Given the description of an element on the screen output the (x, y) to click on. 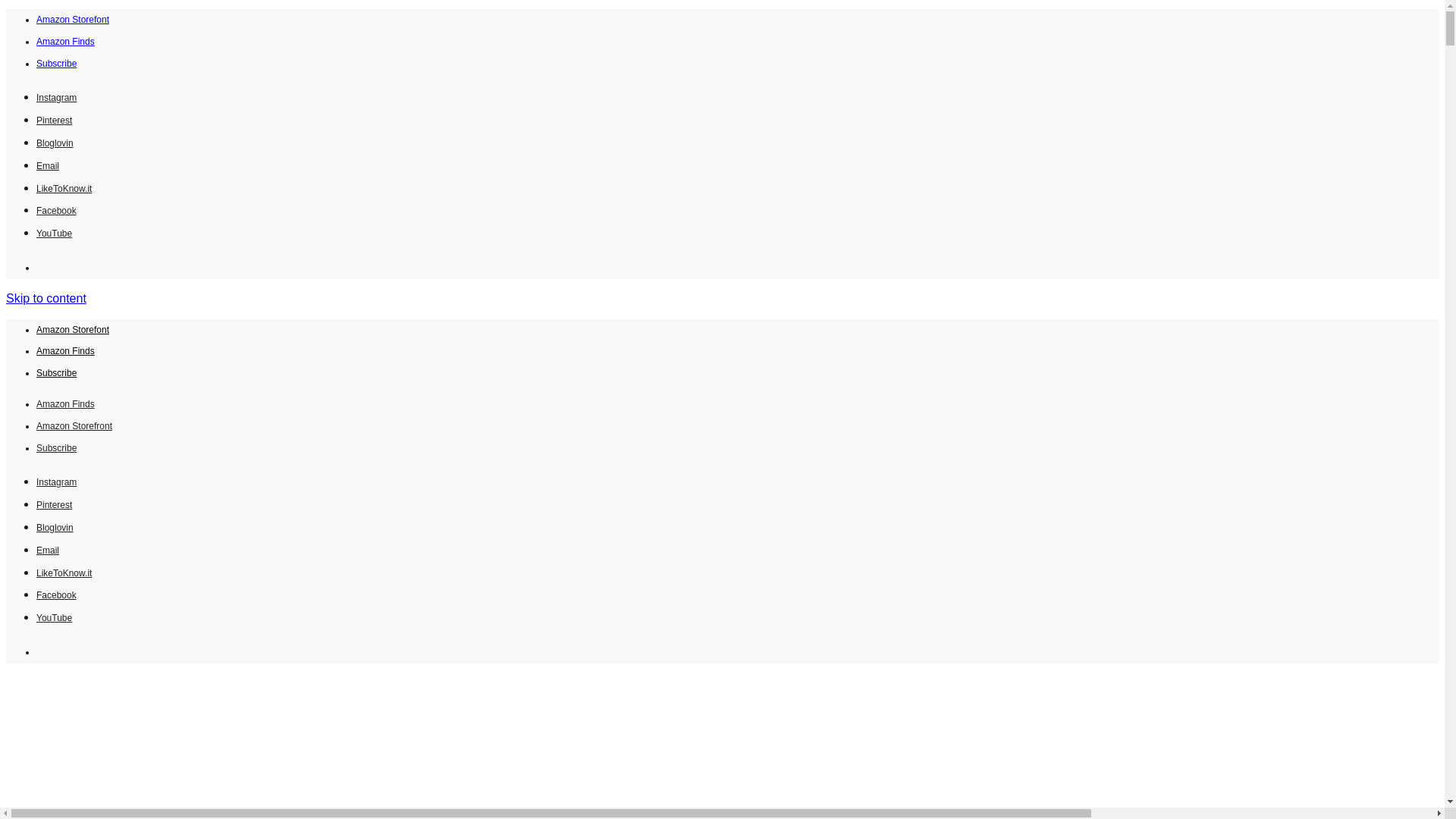
Facebook (56, 209)
Subscribe (56, 448)
Skip to content (45, 297)
Subscribe (56, 372)
Facebook (56, 594)
LikeToKnow.it (63, 571)
Instagram (56, 96)
Bloglovin (55, 141)
Amazon Storefront (74, 425)
Email (47, 164)
Amazon Finds (65, 41)
YouTube (53, 232)
Bloglovin (55, 526)
Amazon Storefont (72, 19)
Pinterest (53, 503)
